Given the description of an element on the screen output the (x, y) to click on. 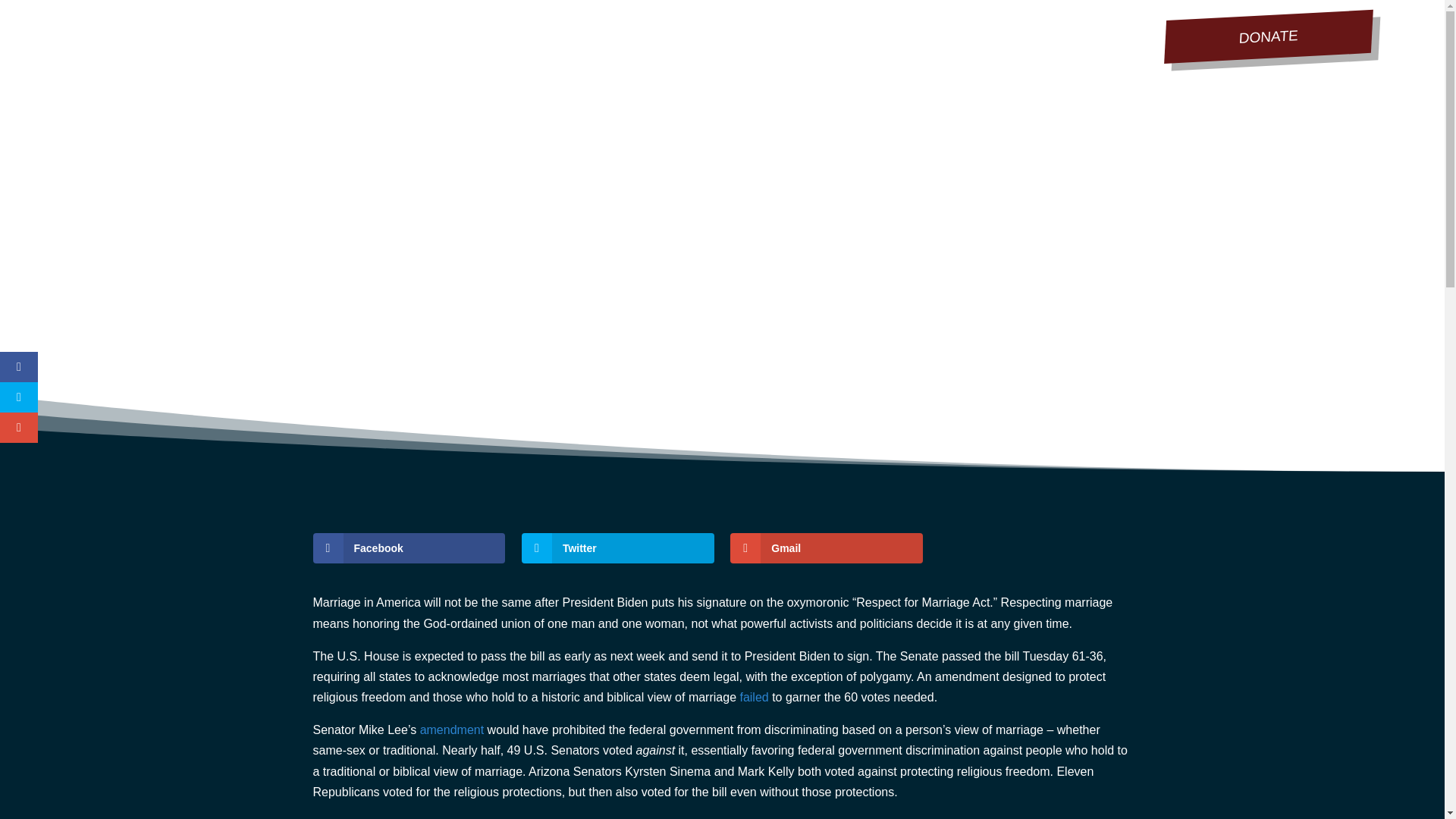
Resources (854, 35)
Advocacy (681, 35)
Media (766, 35)
About (479, 35)
Get Involved (574, 35)
